Given the description of an element on the screen output the (x, y) to click on. 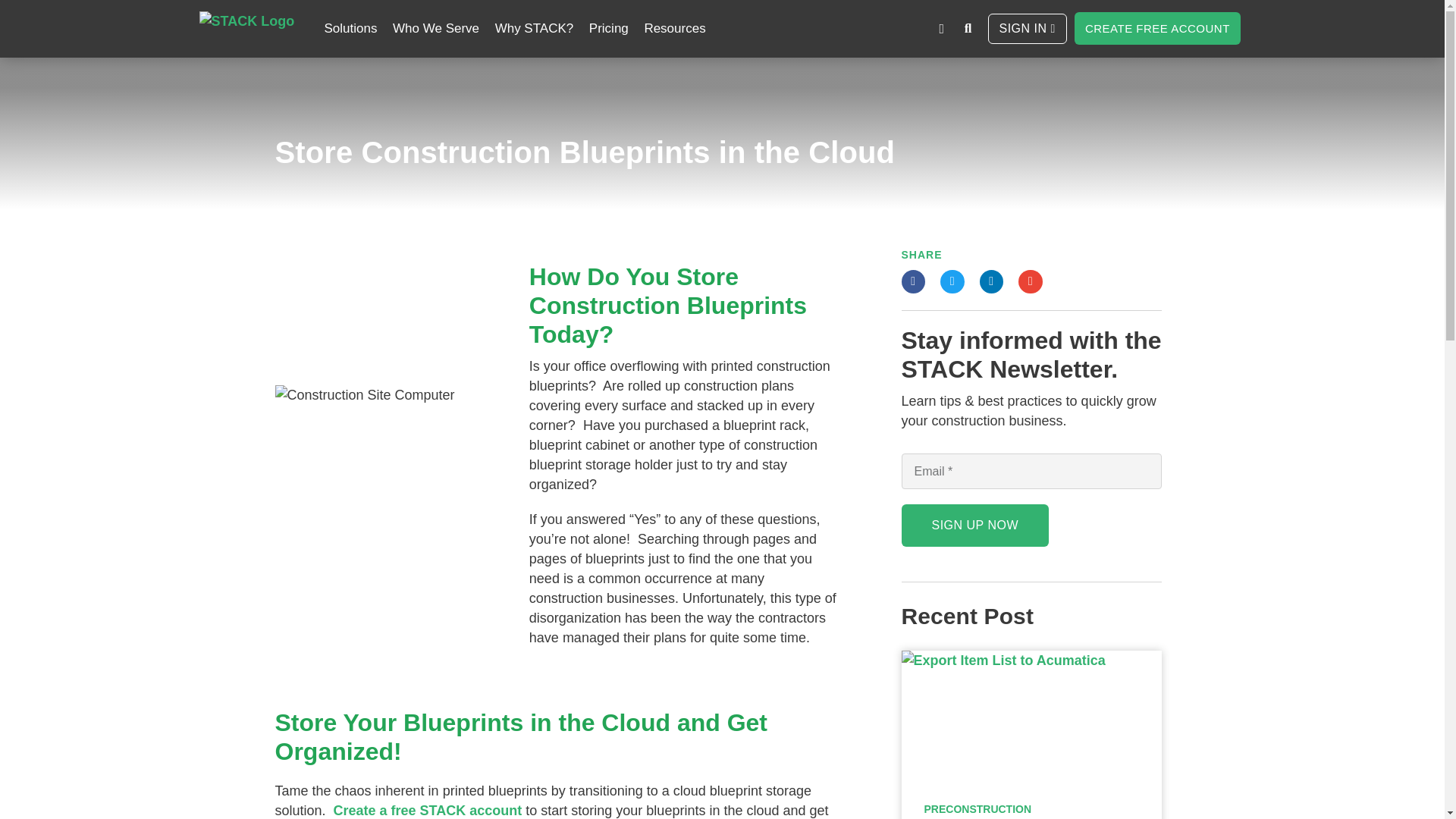
Solutions (350, 29)
Who We Serve (436, 29)
Export Item List to Acumatica (1031, 712)
